Given the description of an element on the screen output the (x, y) to click on. 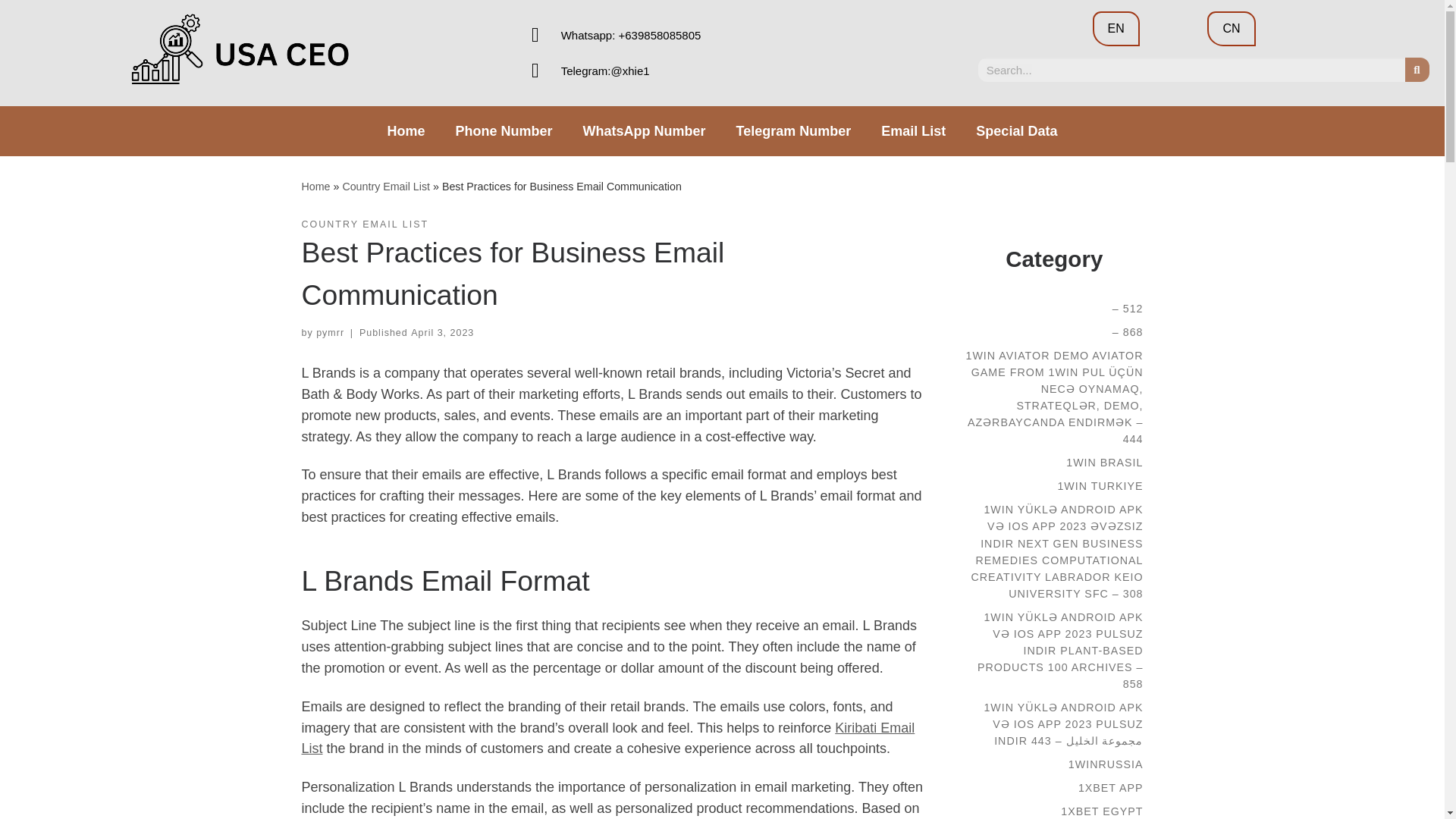
Phone Number (504, 130)
COUNTRY EMAIL LIST (365, 224)
Telegram Number (793, 130)
pymrr (329, 332)
Country Email List (385, 186)
Email List (913, 130)
View all posts in Country Email List (365, 224)
CN (1231, 28)
View all posts by pymrr (329, 332)
April 3, 2023 (442, 332)
EN (1116, 28)
Country Email List (385, 186)
USA CEO (315, 186)
7:41 am (442, 332)
Kiribati Email List (608, 738)
